Given the description of an element on the screen output the (x, y) to click on. 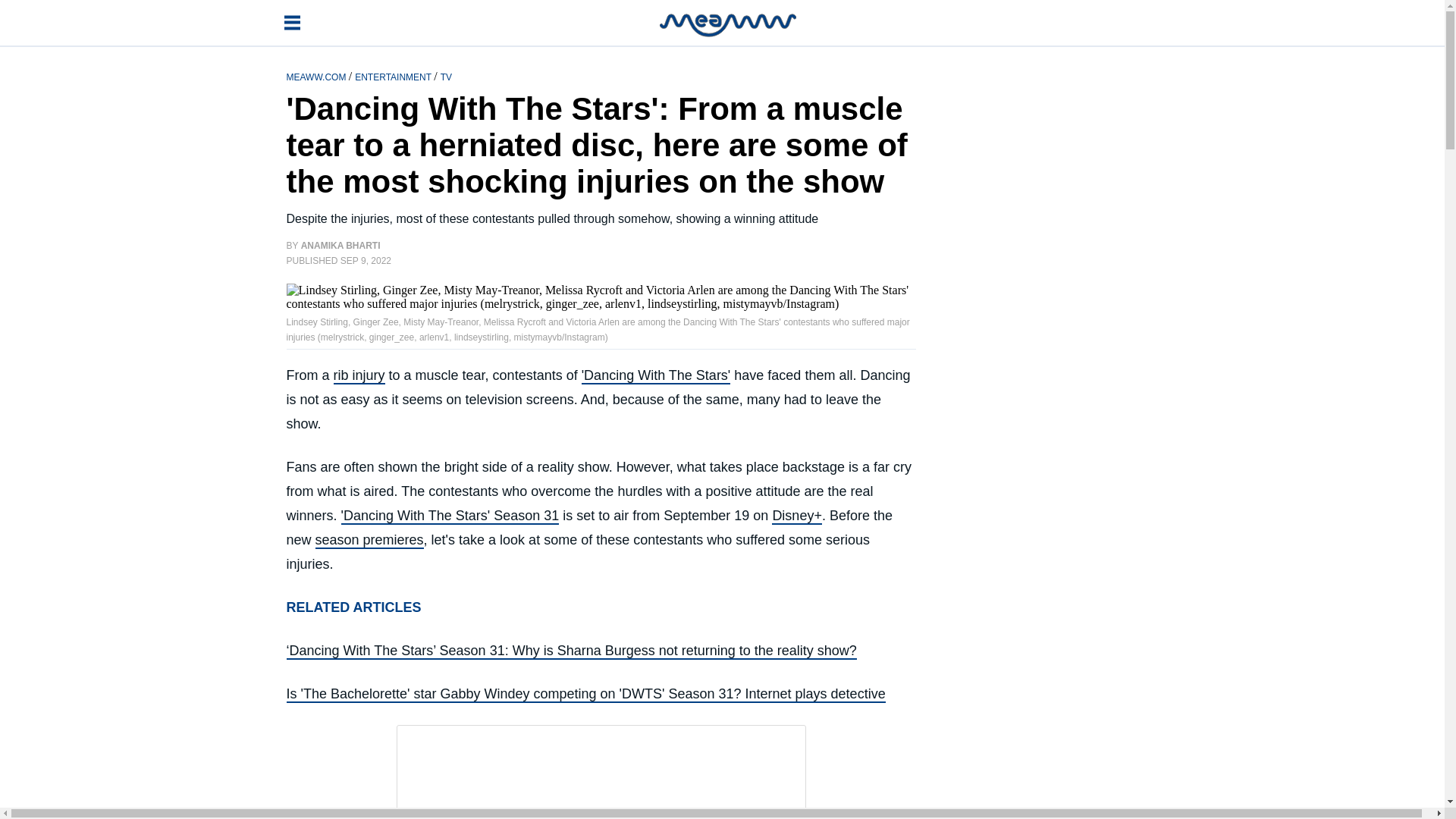
season premieres (369, 540)
rib injury (359, 375)
'Dancing With The Stars' (655, 375)
TV (446, 75)
ANAMIKA BHARTI (340, 245)
MEAWW.COM (317, 75)
ENTERTAINMENT (394, 75)
'Dancing With The Stars' Season 31 (449, 515)
